Given the description of an element on the screen output the (x, y) to click on. 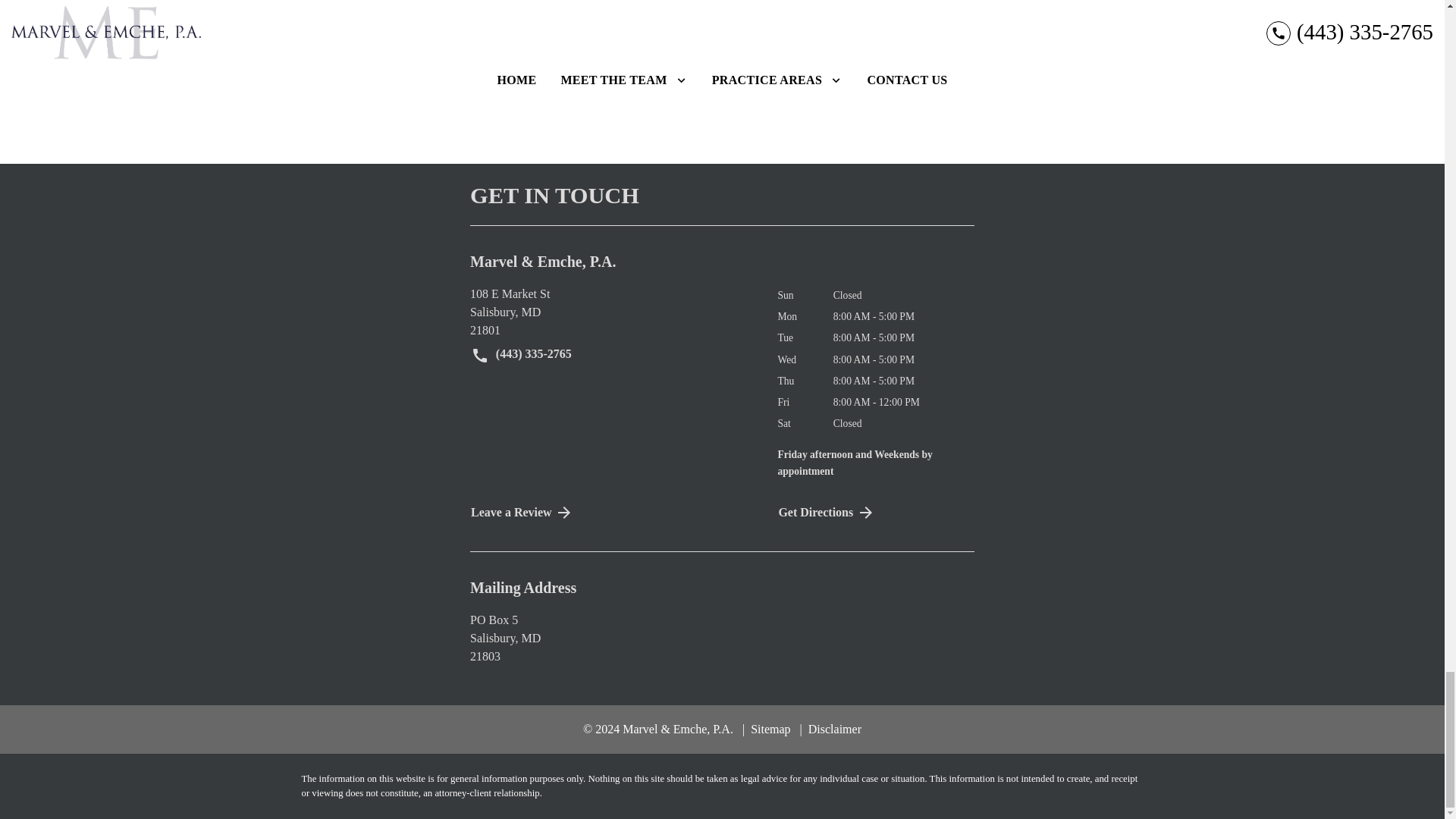
Disclaimer (830, 728)
Sitemap (766, 728)
Get Directions (612, 312)
Leave a Review (875, 512)
